Given the description of an element on the screen output the (x, y) to click on. 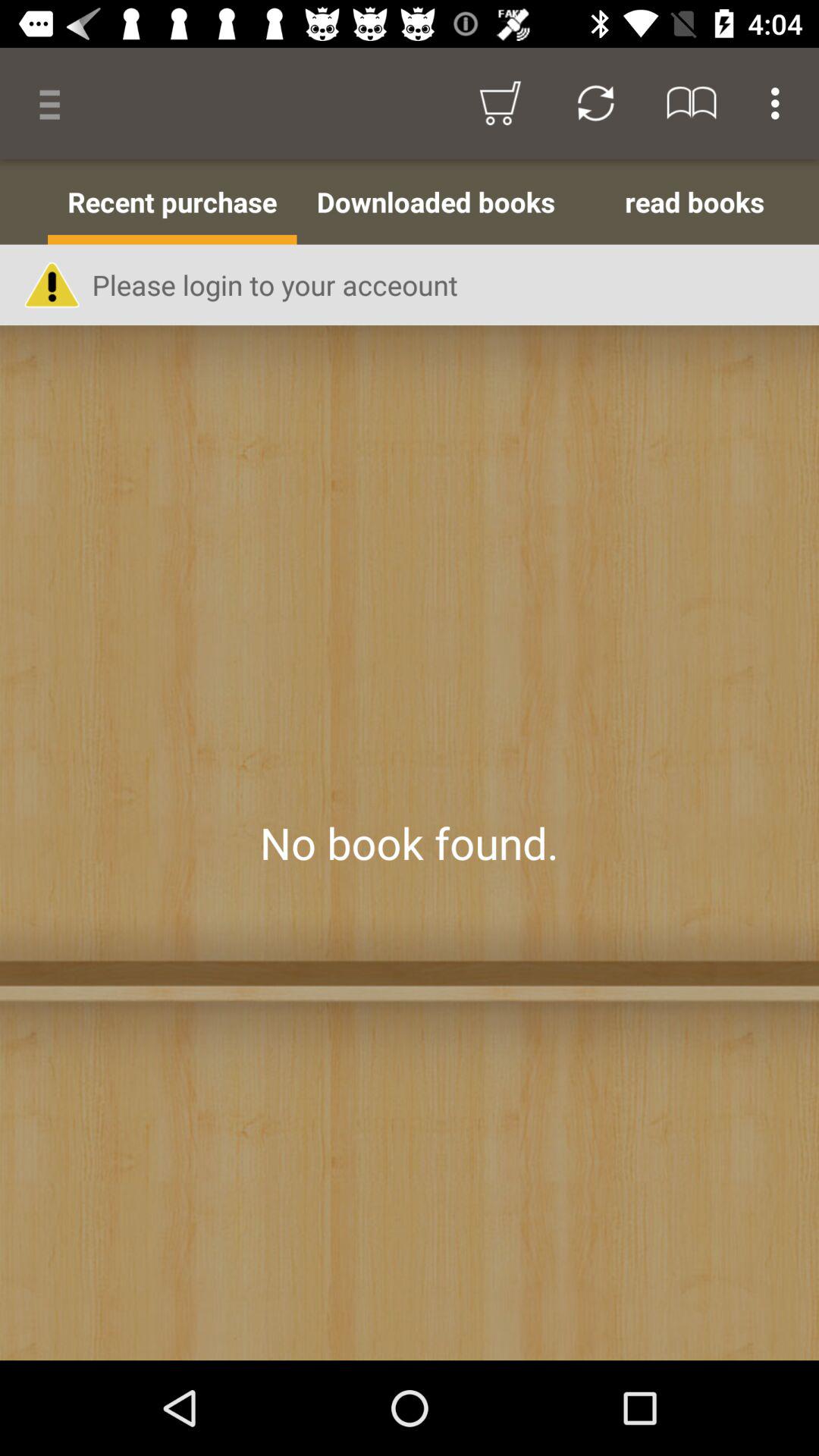
click icon next to recent purchase app (435, 201)
